Given the description of an element on the screen output the (x, y) to click on. 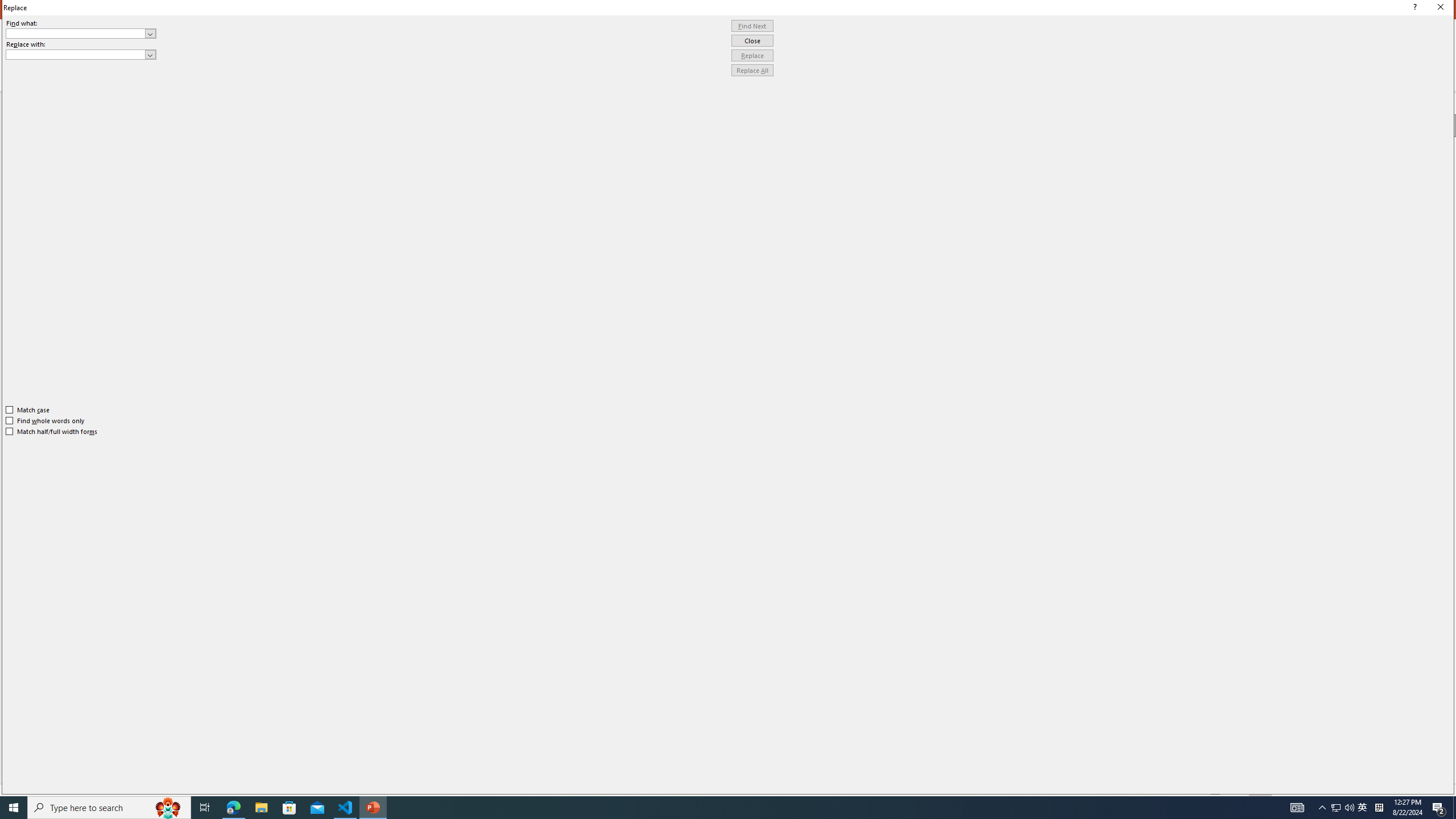
Replace All (752, 69)
Find whole words only (45, 420)
Match half/full width forms (52, 431)
Find Next (752, 25)
Replace (752, 55)
Find what (80, 33)
Replace with (80, 54)
Match case (27, 409)
Find what (75, 33)
Replace with (75, 53)
Context help (1413, 8)
